Given the description of an element on the screen output the (x, y) to click on. 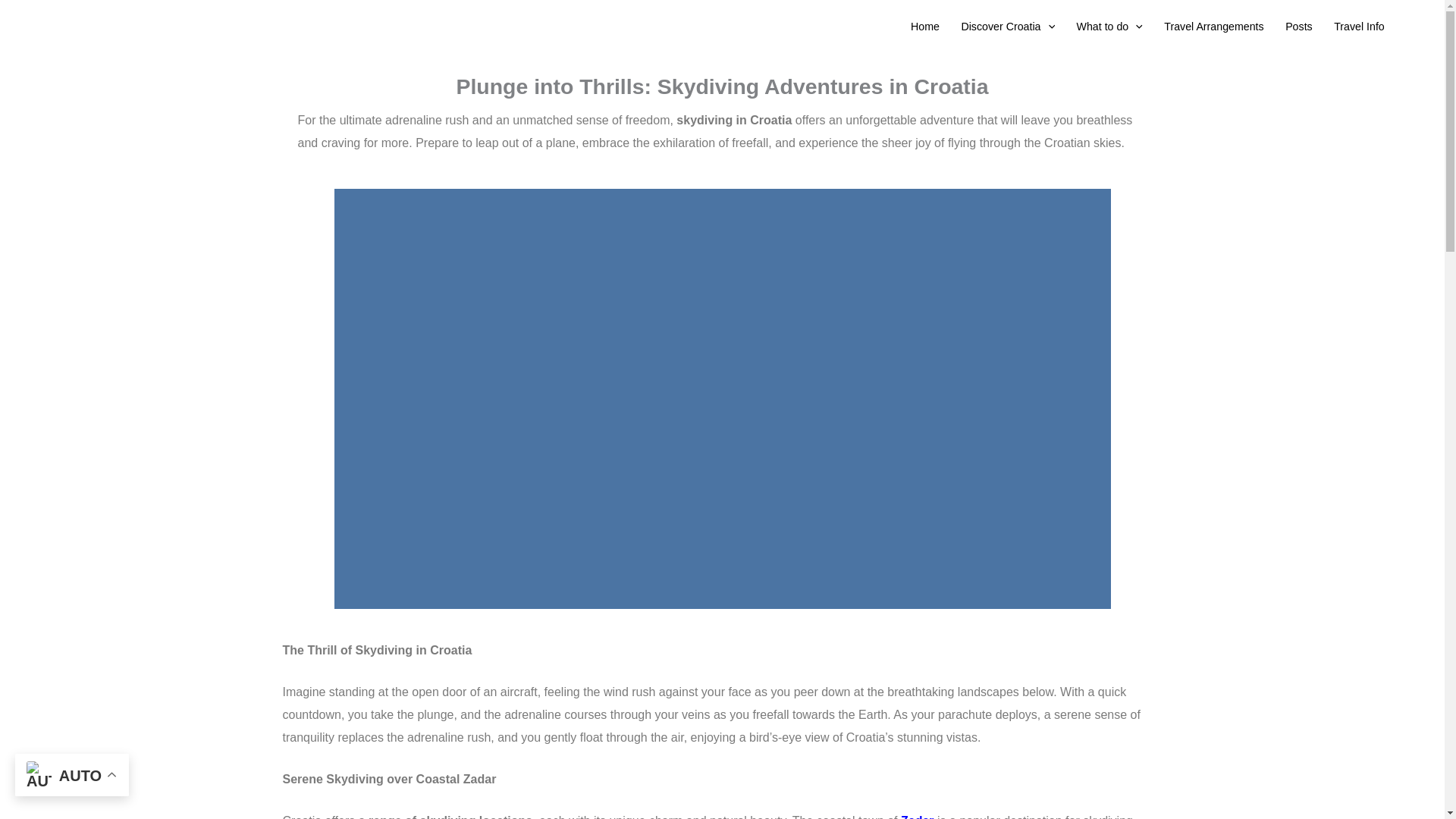
Posts (1299, 26)
Travel Info (1358, 26)
Travel Arrangements (1214, 26)
What to do (1109, 26)
Home (924, 26)
Discover Croatia (1007, 26)
